Given the description of an element on the screen output the (x, y) to click on. 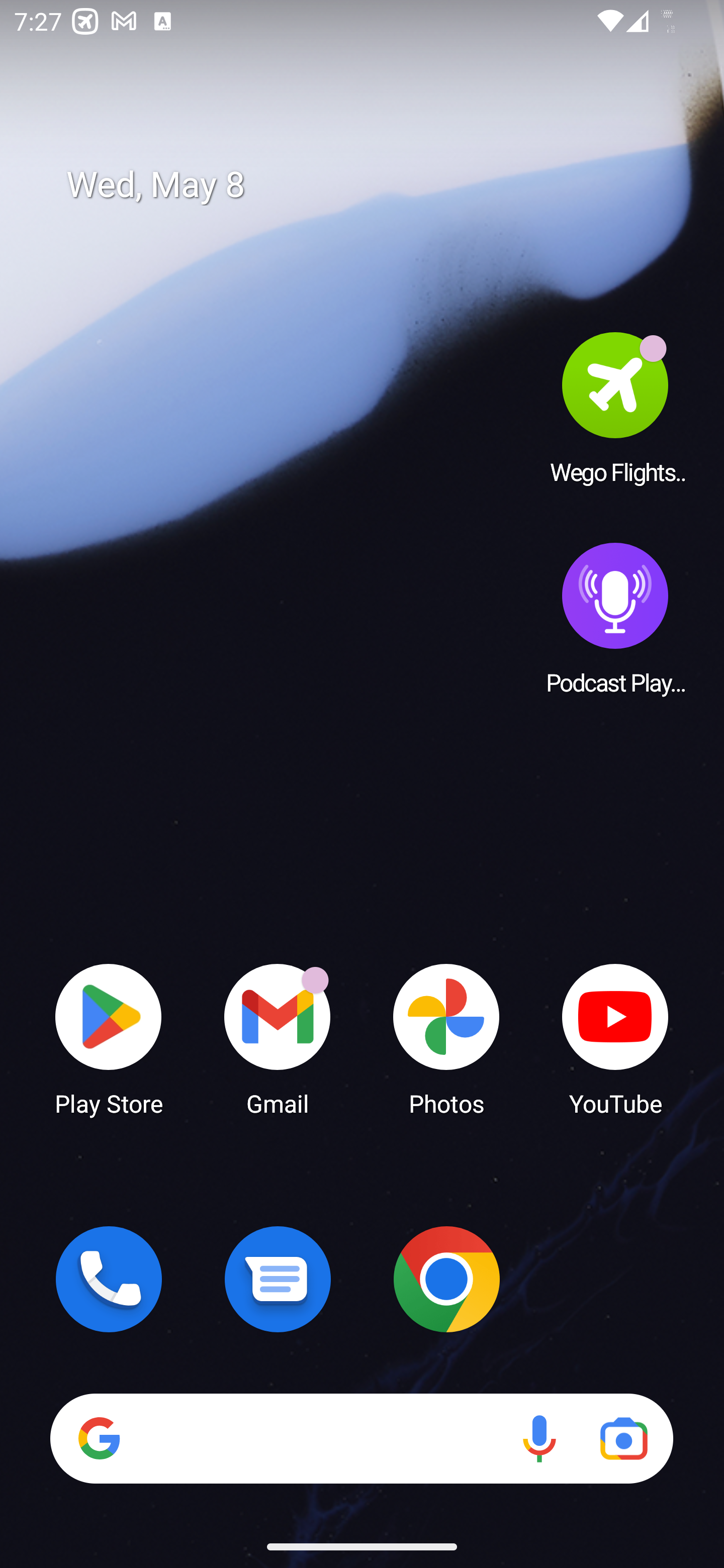
Wed, May 8 (375, 184)
Podcast Player (615, 617)
Play Store (108, 1038)
Gmail Gmail has 19 notifications (277, 1038)
Photos (445, 1038)
YouTube (615, 1038)
Phone (108, 1279)
Messages (277, 1279)
Chrome (446, 1279)
Voice search (539, 1438)
Google Lens (623, 1438)
